Given the description of an element on the screen output the (x, y) to click on. 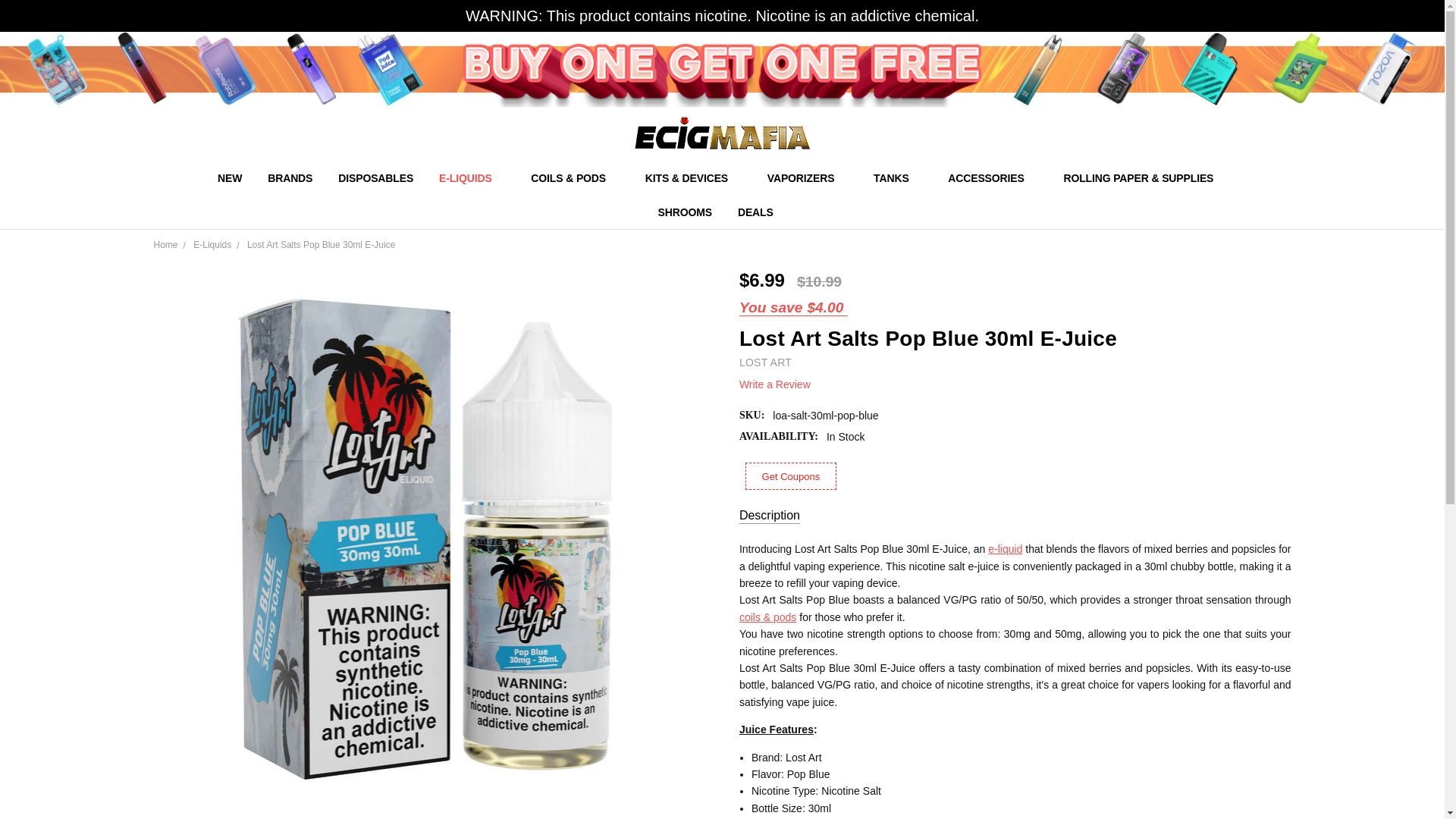
Show All (743, 178)
E-LIQUIDS (472, 177)
BRANDS (289, 177)
NEW (229, 177)
ECigMafia (721, 134)
DISPOSABLES (375, 177)
